Given the description of an element on the screen output the (x, y) to click on. 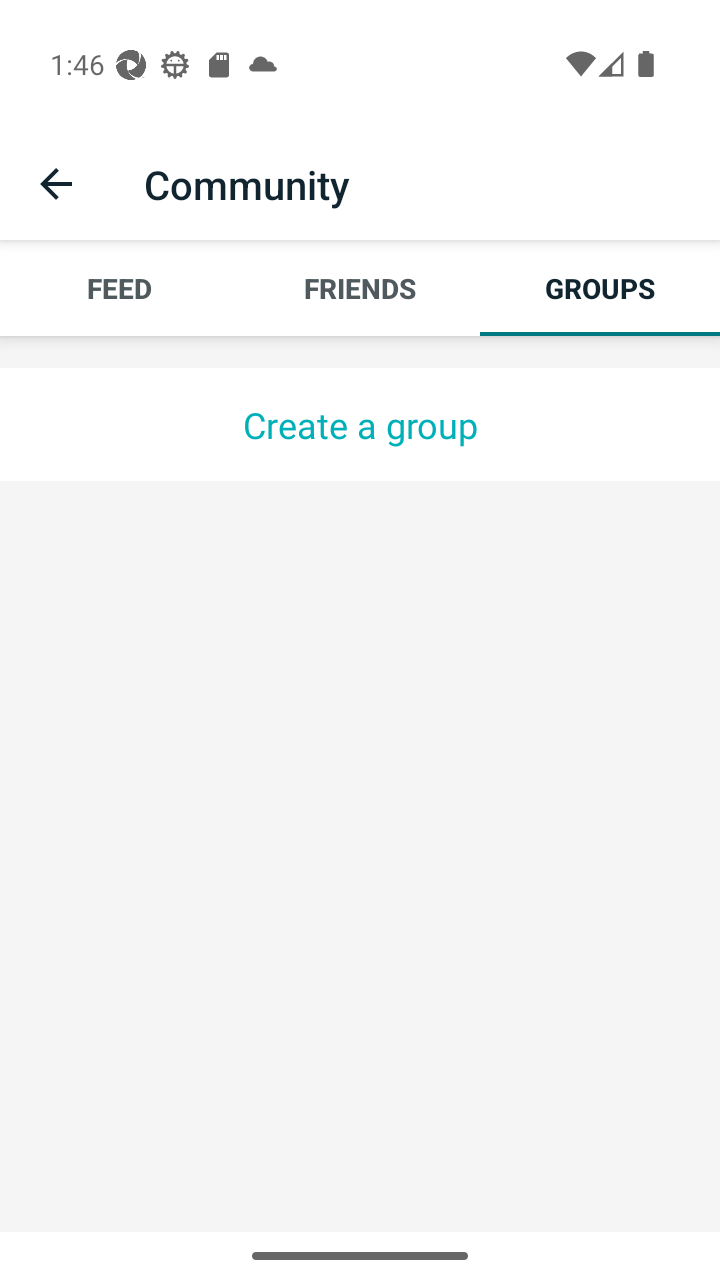
FEED (119, 287)
FRIENDS (359, 287)
Create a group (360, 424)
